Given the description of an element on the screen output the (x, y) to click on. 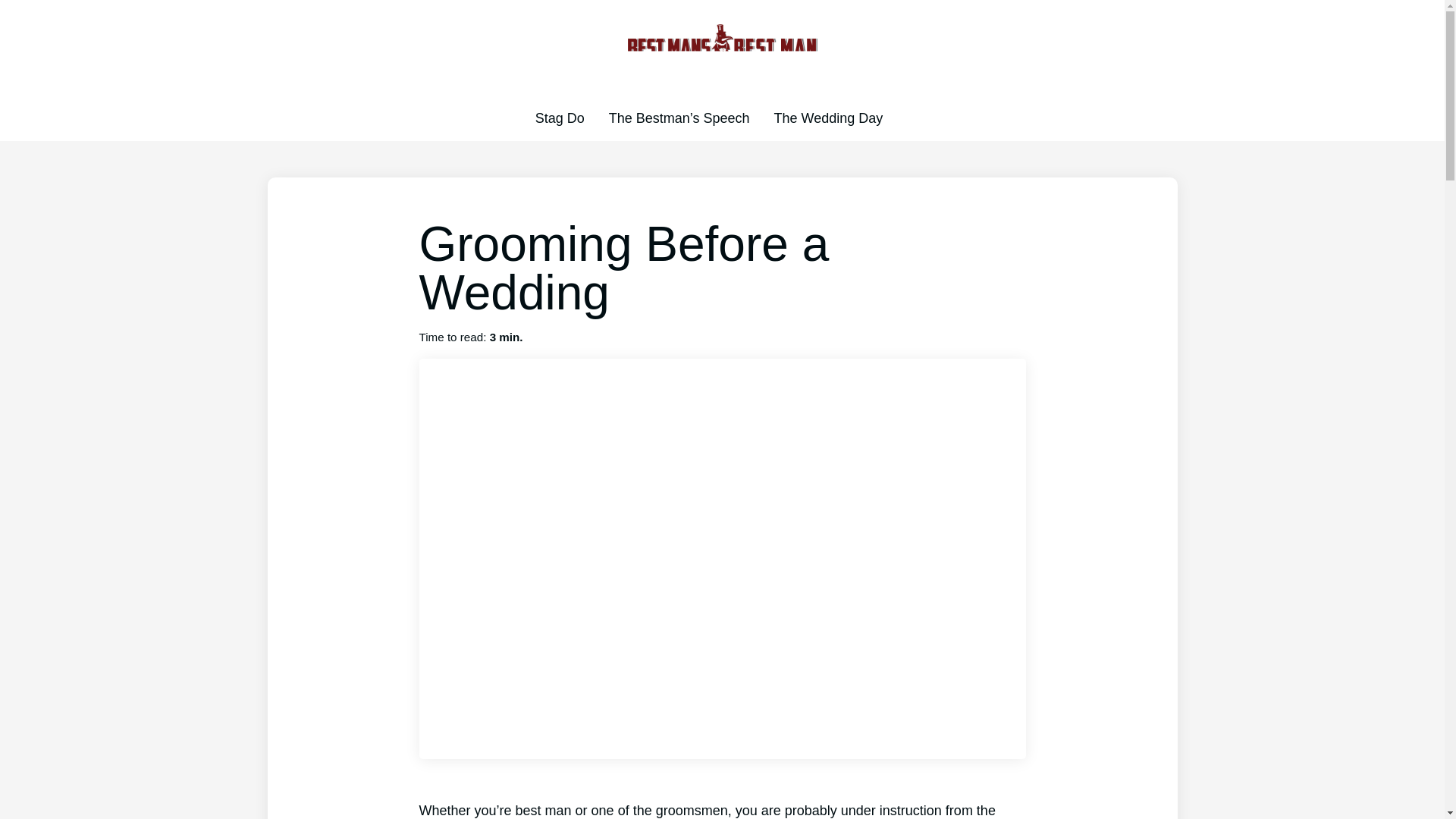
Search for: (908, 118)
Stag Do (560, 118)
help writing the most memorable best man speech (678, 118)
The Wedding Day (828, 118)
help getting the stag weekend sorted (560, 118)
